Given the description of an element on the screen output the (x, y) to click on. 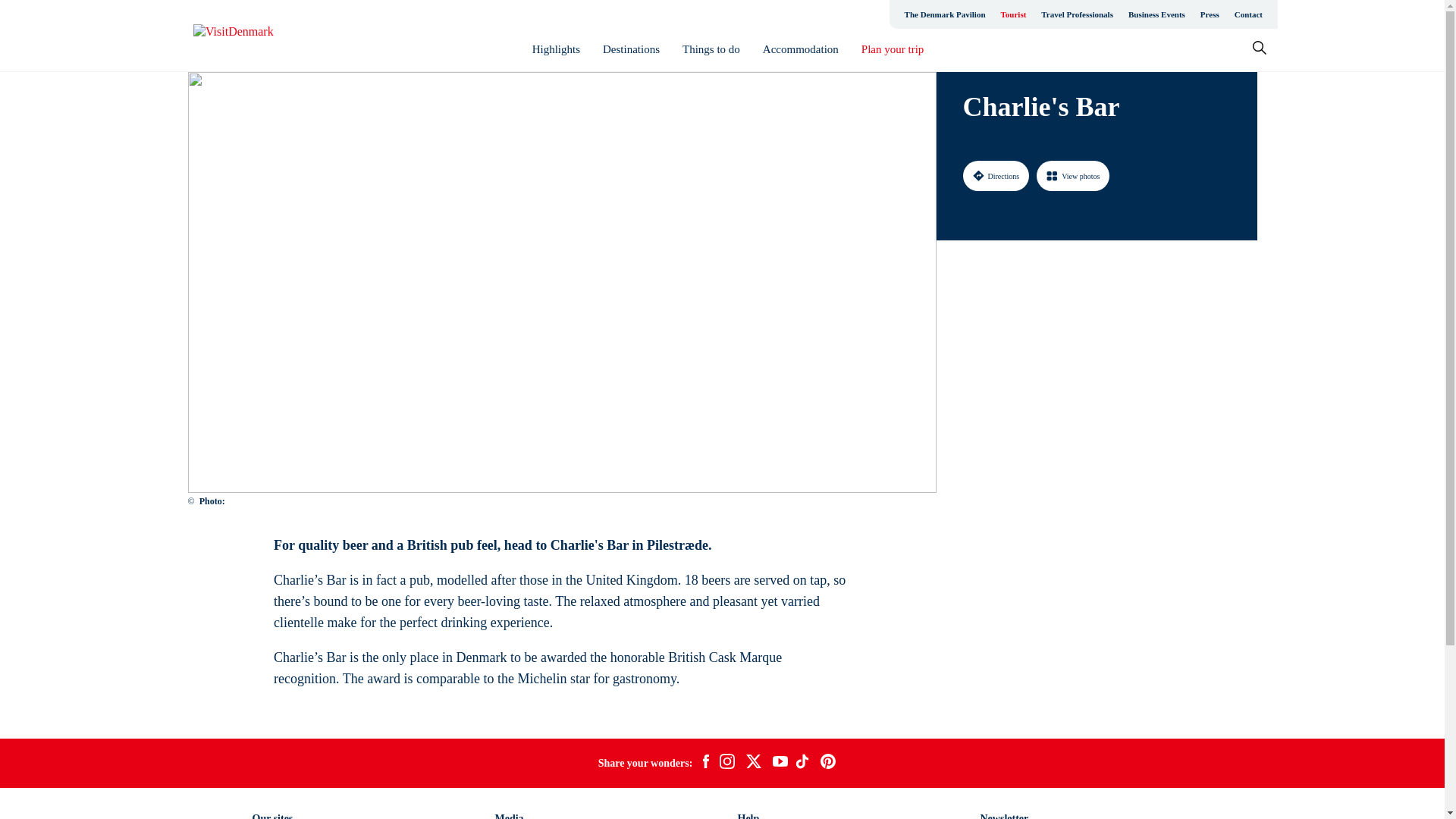
youtube (780, 763)
instagram (726, 763)
Contact (1248, 14)
pinterest (828, 763)
twitter (753, 762)
Accommodation (800, 49)
The Denmark Pavilion (944, 14)
facebook (705, 763)
Travel Professionals (1077, 14)
Directions (995, 175)
